Given the description of an element on the screen output the (x, y) to click on. 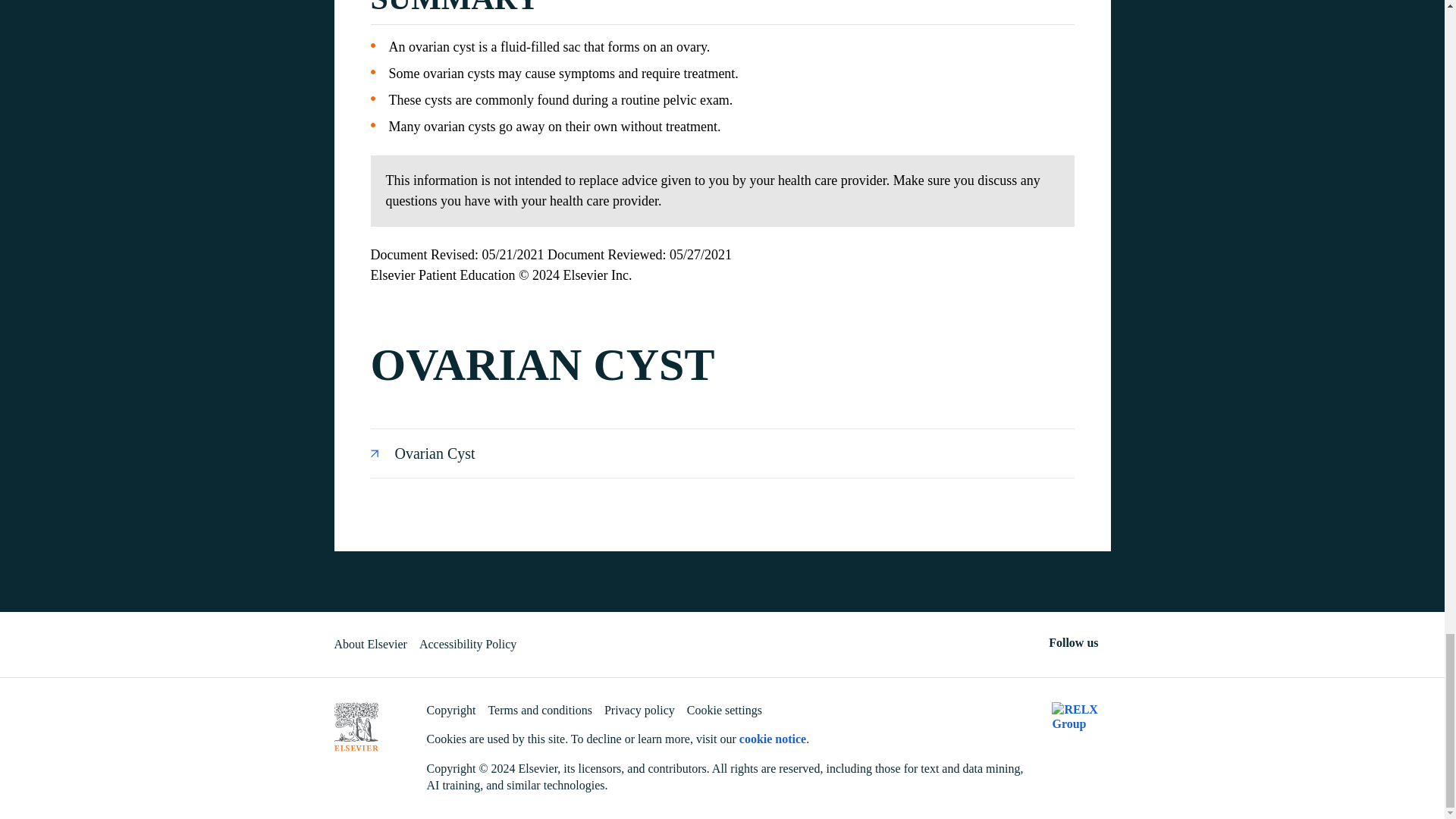
Accessibility Policy (467, 644)
About Elsevier (369, 644)
Copyright (451, 709)
cookie notice (772, 738)
Terms and conditions (539, 709)
Privacy policy (639, 709)
Cookie settings (724, 710)
Ovarian Cyst (721, 453)
